Given the description of an element on the screen output the (x, y) to click on. 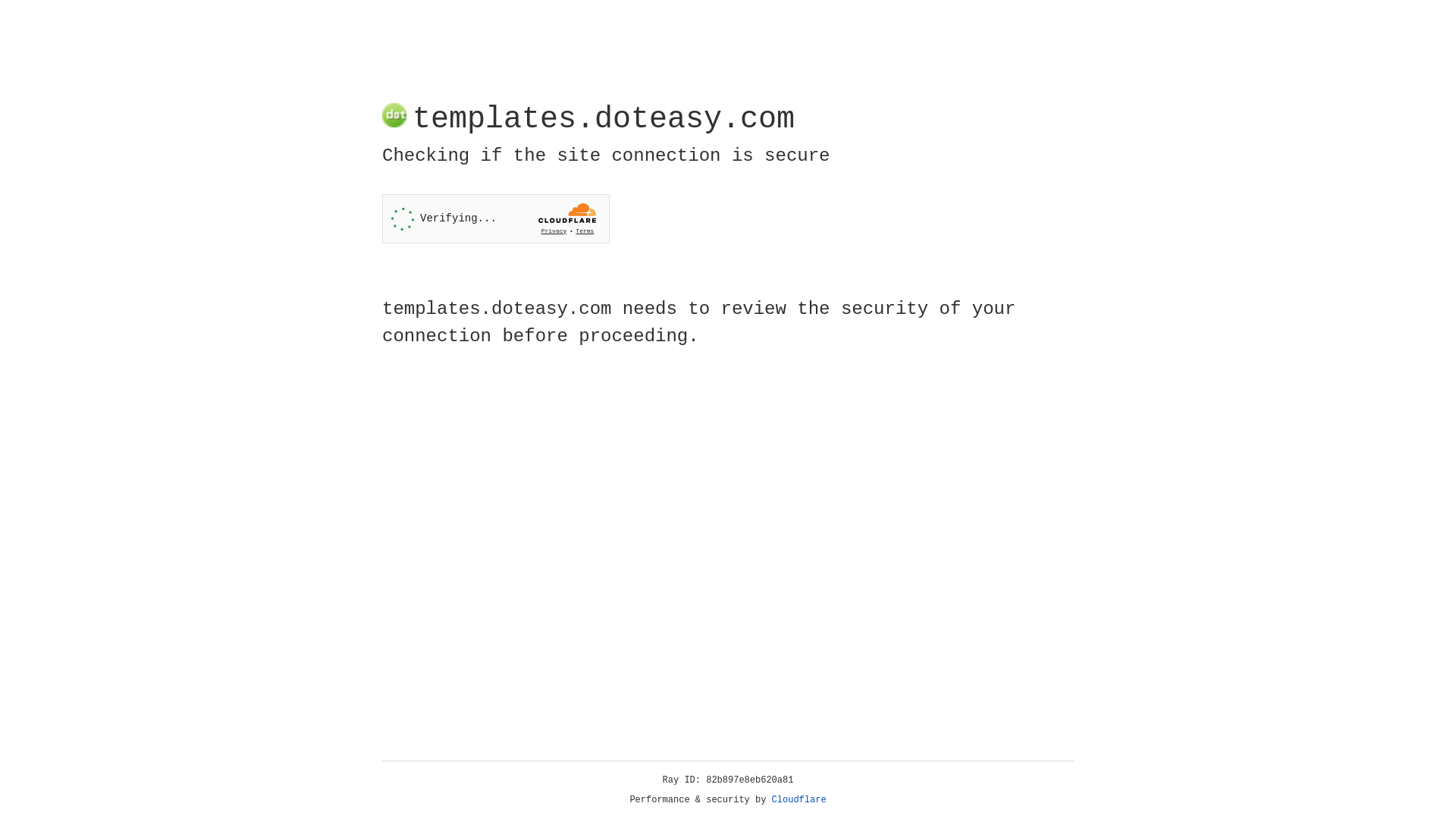
Widget containing a Cloudflare security challenge Element type: hover (495, 218)
Cloudflare Element type: text (798, 799)
